Given the description of an element on the screen output the (x, y) to click on. 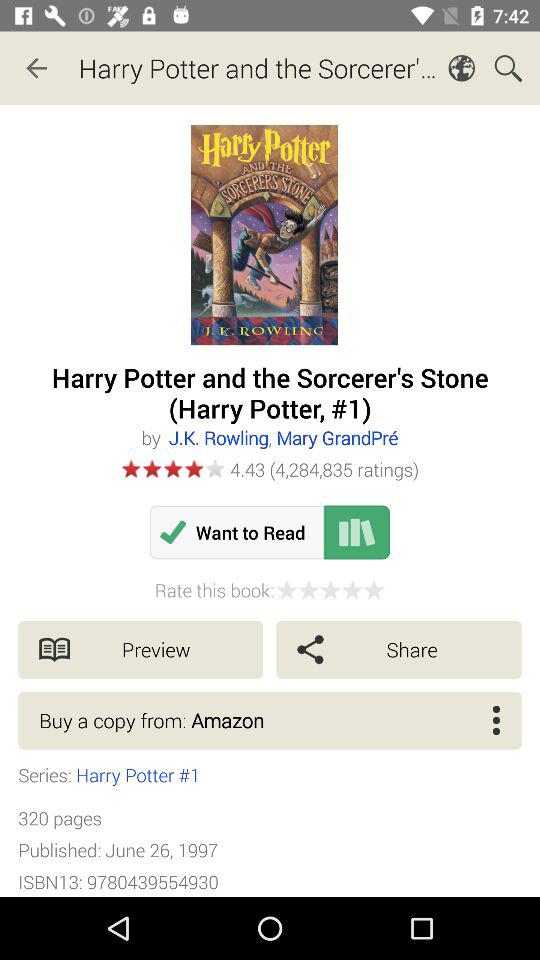
open the preview item (140, 649)
